Given the description of an element on the screen output the (x, y) to click on. 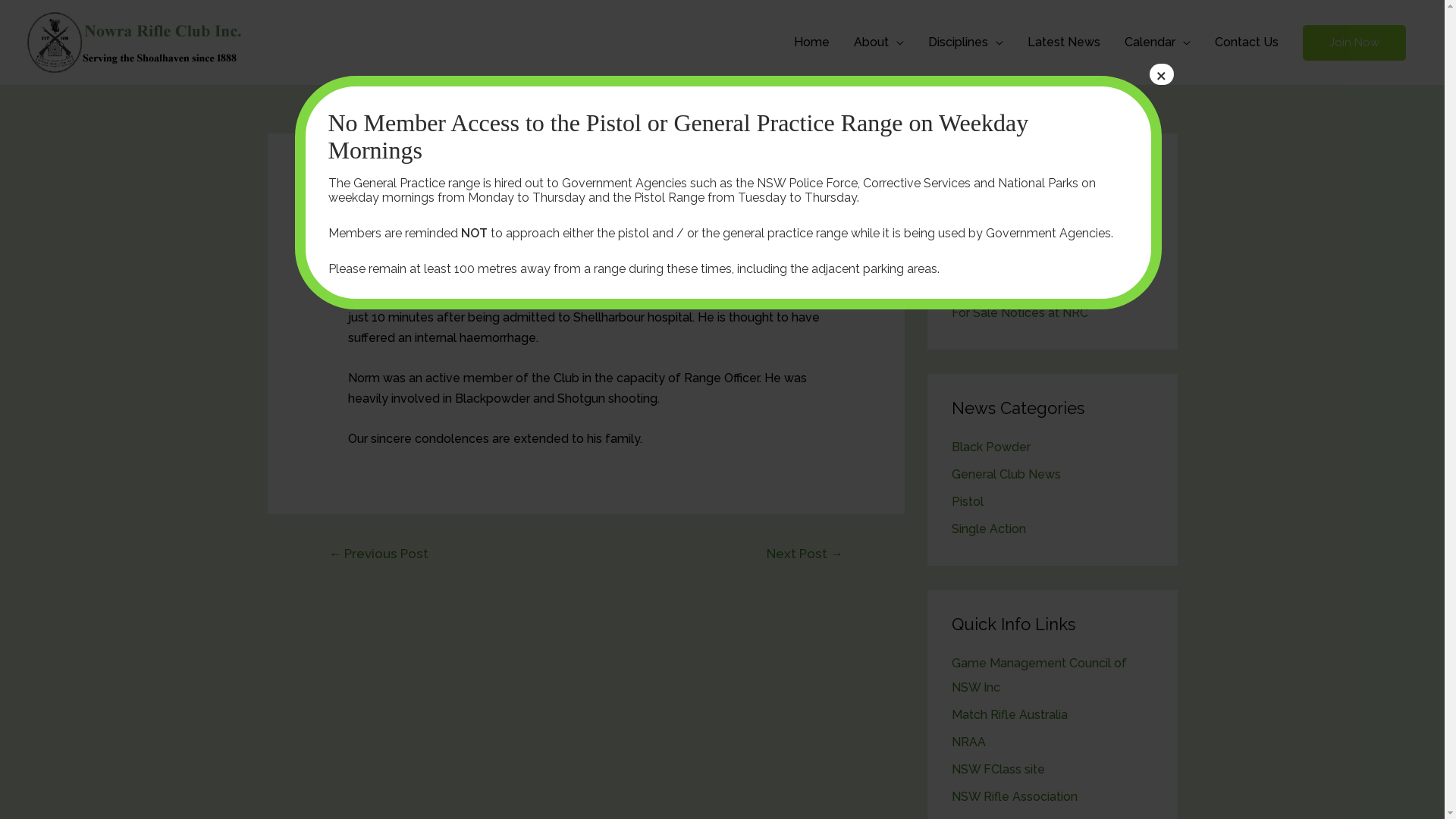
GEOFF BANYER Element type: text (997, 285)
Black Powder Element type: text (989, 446)
General Club News Element type: text (402, 232)
President Element type: text (517, 232)
Calendar Element type: text (1157, 42)
2023 Code Captain and Range Officer Meeting Element type: text (1036, 218)
Disciplines Element type: text (965, 42)
NSW Rifle Association Element type: text (1013, 796)
For Sale Notices at NRC Element type: text (1018, 312)
Home Element type: text (811, 42)
Match Rifle Australia Element type: text (1008, 714)
Latest News Element type: text (1063, 42)
NSW FClass site Element type: text (997, 769)
NRAA Element type: text (967, 741)
About Element type: text (878, 42)
LAST POSSE 2024 Element type: text (1003, 258)
Contact Us Element type: text (1246, 42)
General Club News Element type: text (1005, 474)
Join Now Element type: text (1353, 41)
Pistol Element type: text (966, 501)
Single Action Element type: text (987, 528)
Game Management Council of NSW Inc Element type: text (1038, 674)
